Given the description of an element on the screen output the (x, y) to click on. 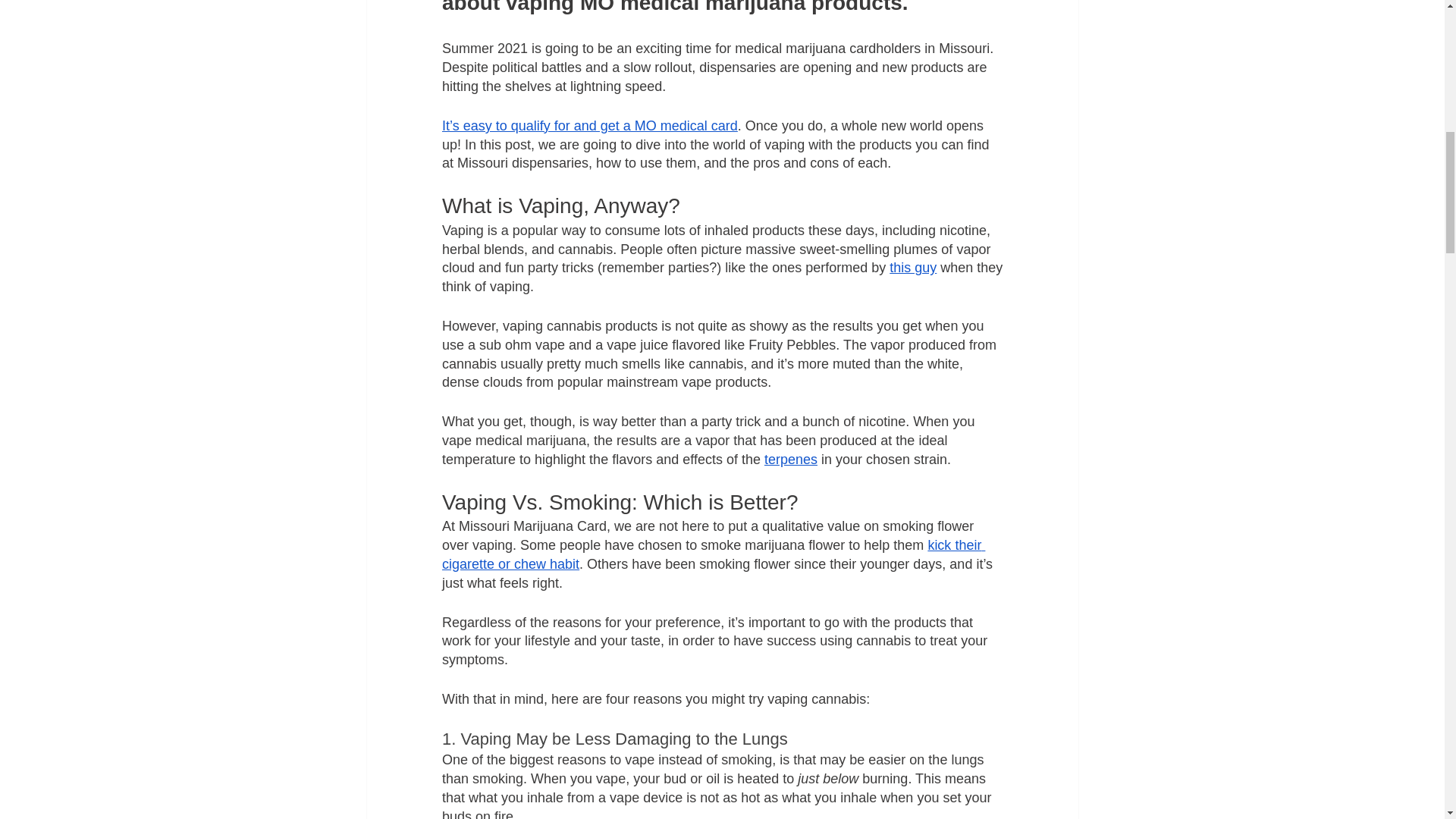
this guy (912, 268)
kick their cigarette or chew habit (712, 554)
terpenes (789, 459)
